Given the description of an element on the screen output the (x, y) to click on. 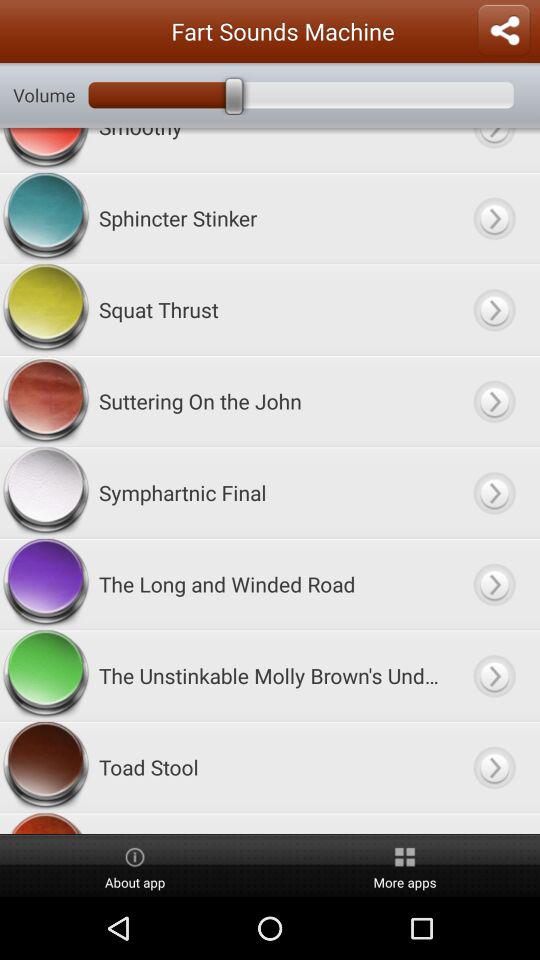
choose sphincter stinker app (269, 218)
